Given the description of an element on the screen output the (x, y) to click on. 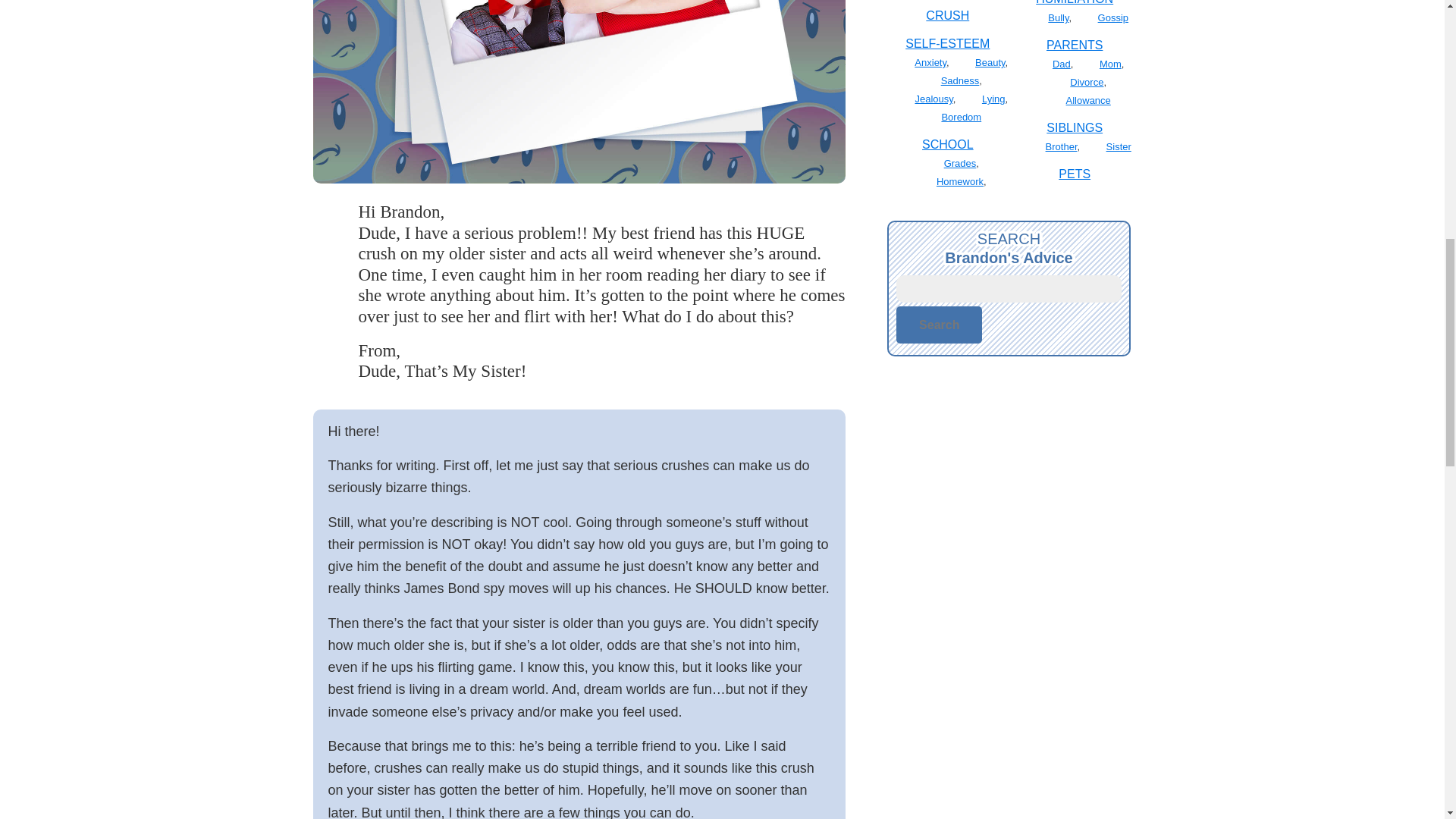
Search (938, 324)
